Given the description of an element on the screen output the (x, y) to click on. 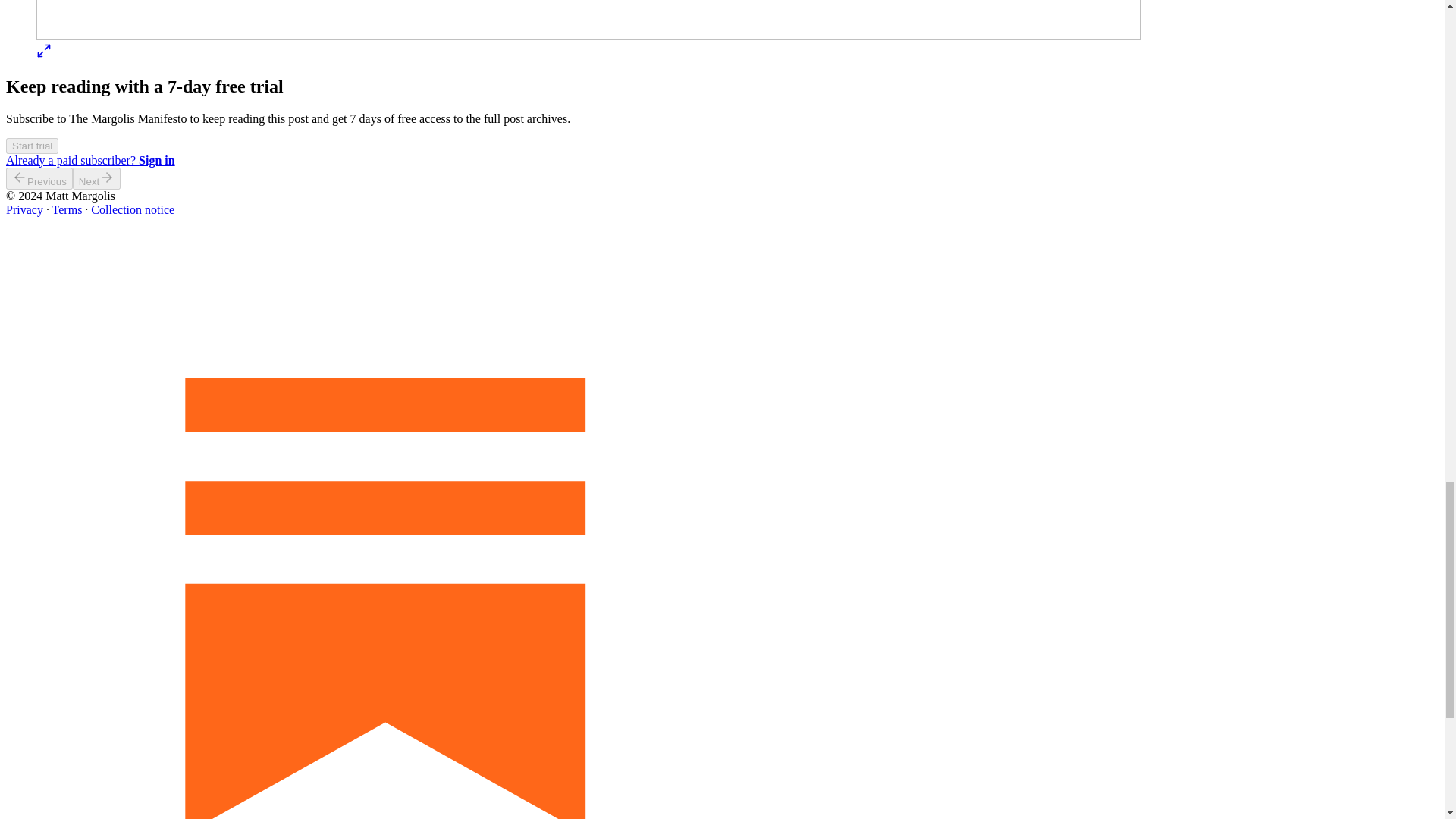
Already a paid subscriber? Sign in (89, 160)
Start trial (31, 145)
Privacy (24, 209)
Collection notice (132, 209)
Previous (38, 178)
Start trial (31, 144)
Next (96, 178)
Terms (67, 209)
